Given the description of an element on the screen output the (x, y) to click on. 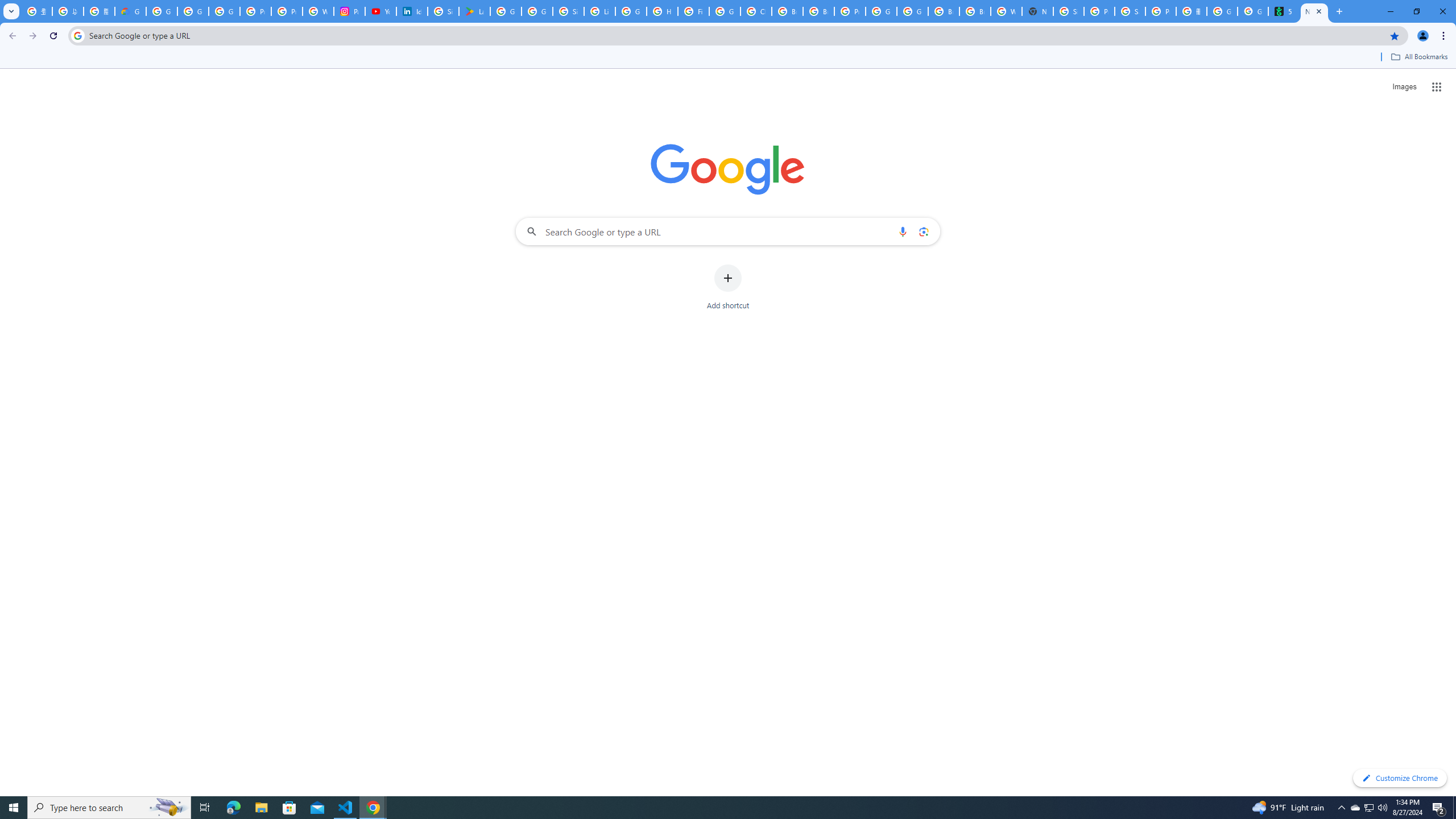
Browse Chrome as a guest - Computer - Google Chrome Help (787, 11)
